Given the description of an element on the screen output the (x, y) to click on. 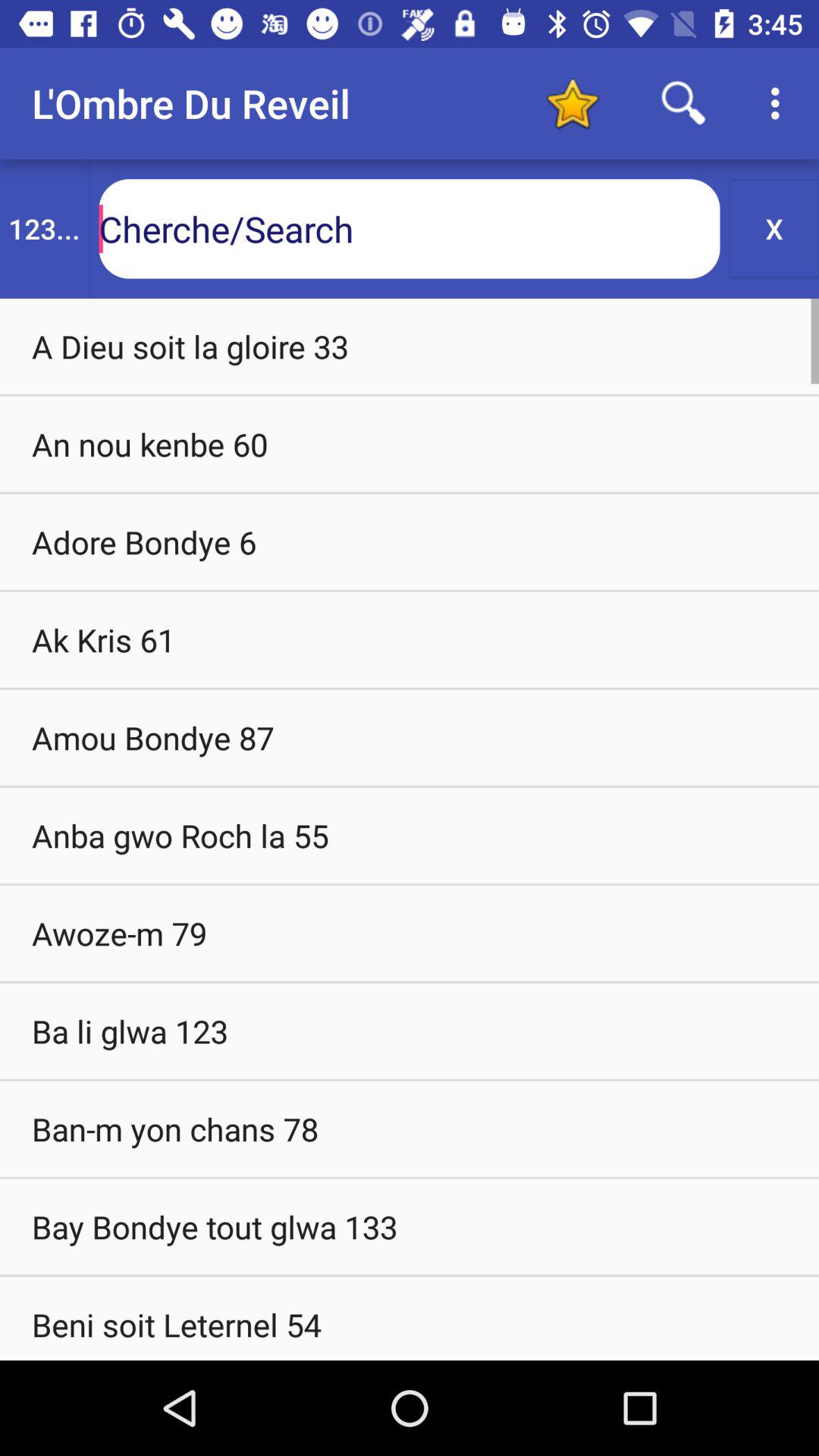
choose awoze-m 79 item (409, 933)
